Given the description of an element on the screen output the (x, y) to click on. 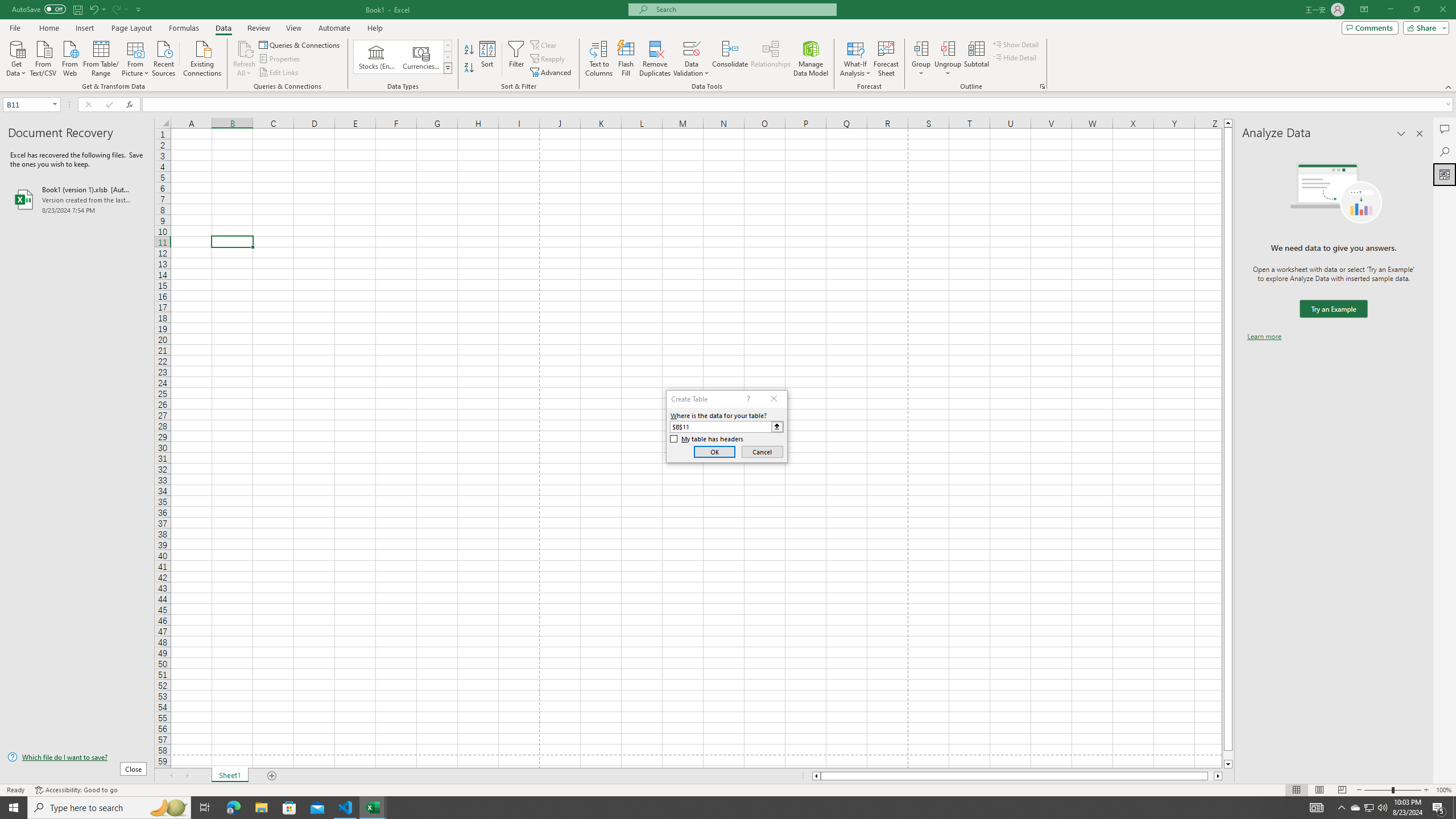
Sort A to Z (469, 49)
Hide Detail (1014, 56)
From Table/Range (100, 57)
